Given the description of an element on the screen output the (x, y) to click on. 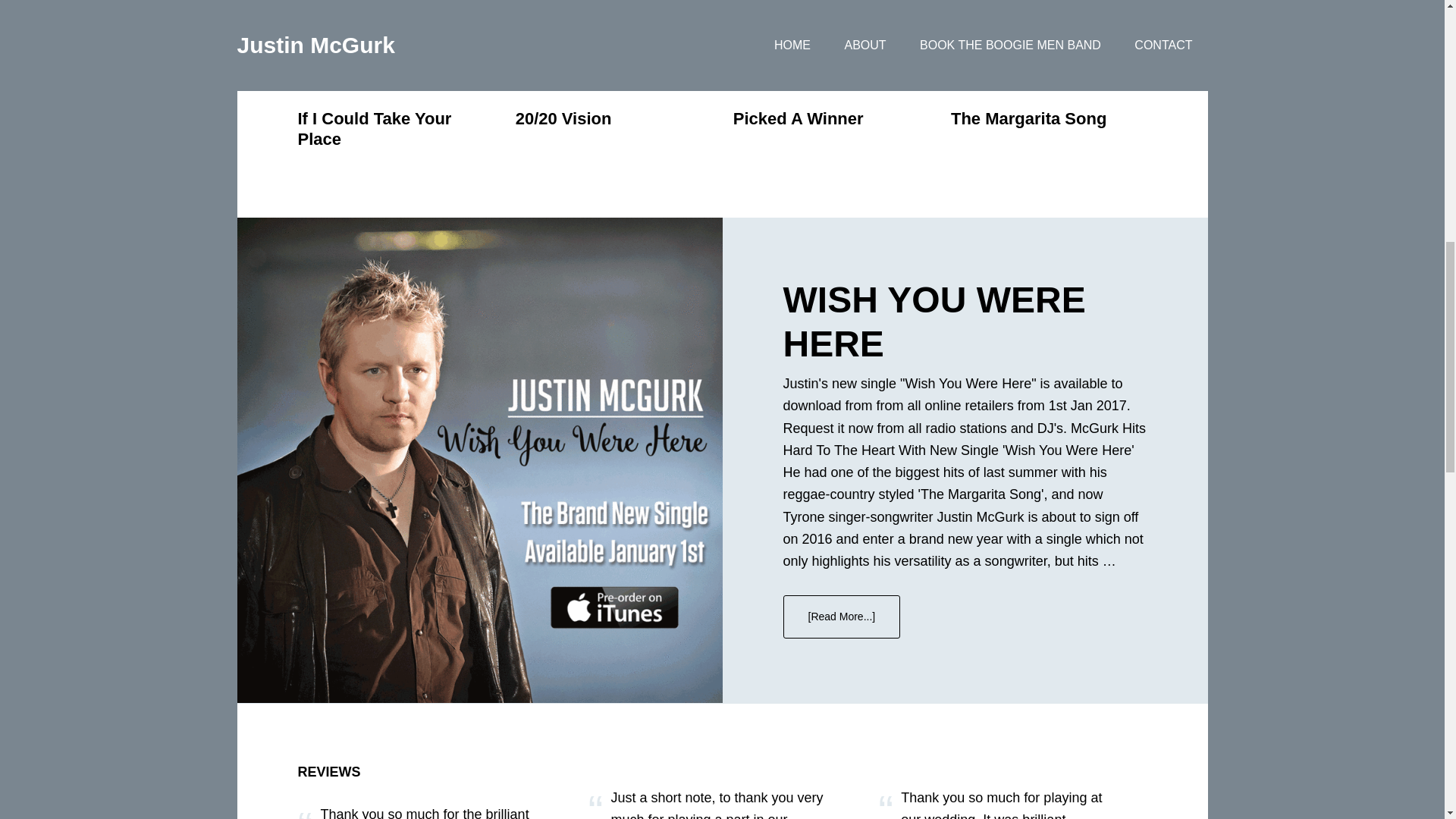
If I Could Take Your Place (374, 128)
The Margarita Song (1028, 117)
WISH YOU WERE HERE (933, 321)
Picked A Winner (798, 117)
